Given the description of an element on the screen output the (x, y) to click on. 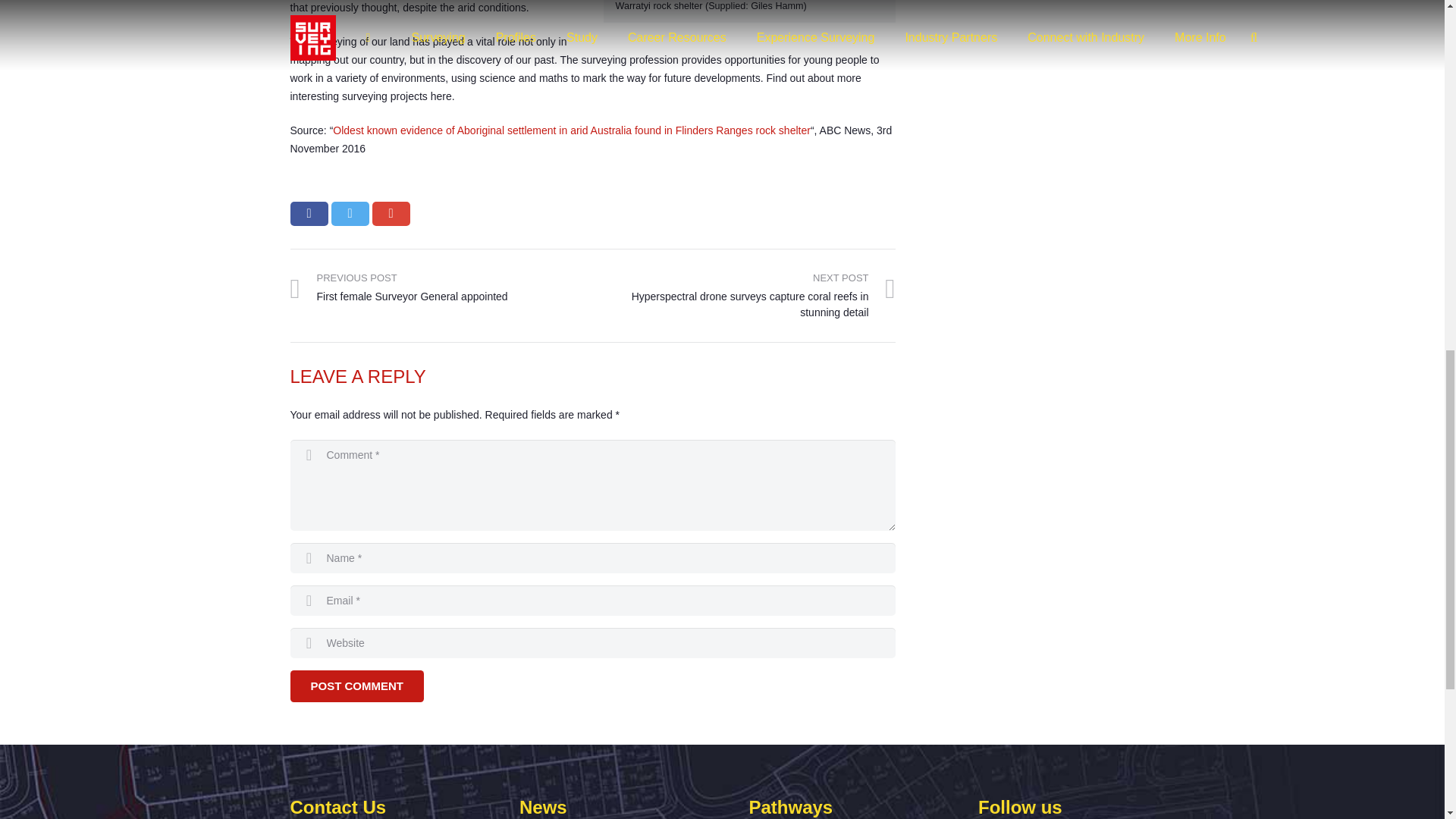
Tweet this (349, 213)
Share this (308, 213)
Share this (390, 213)
Post Comment (356, 685)
Back to top (1413, 22)
